Given the description of an element on the screen output the (x, y) to click on. 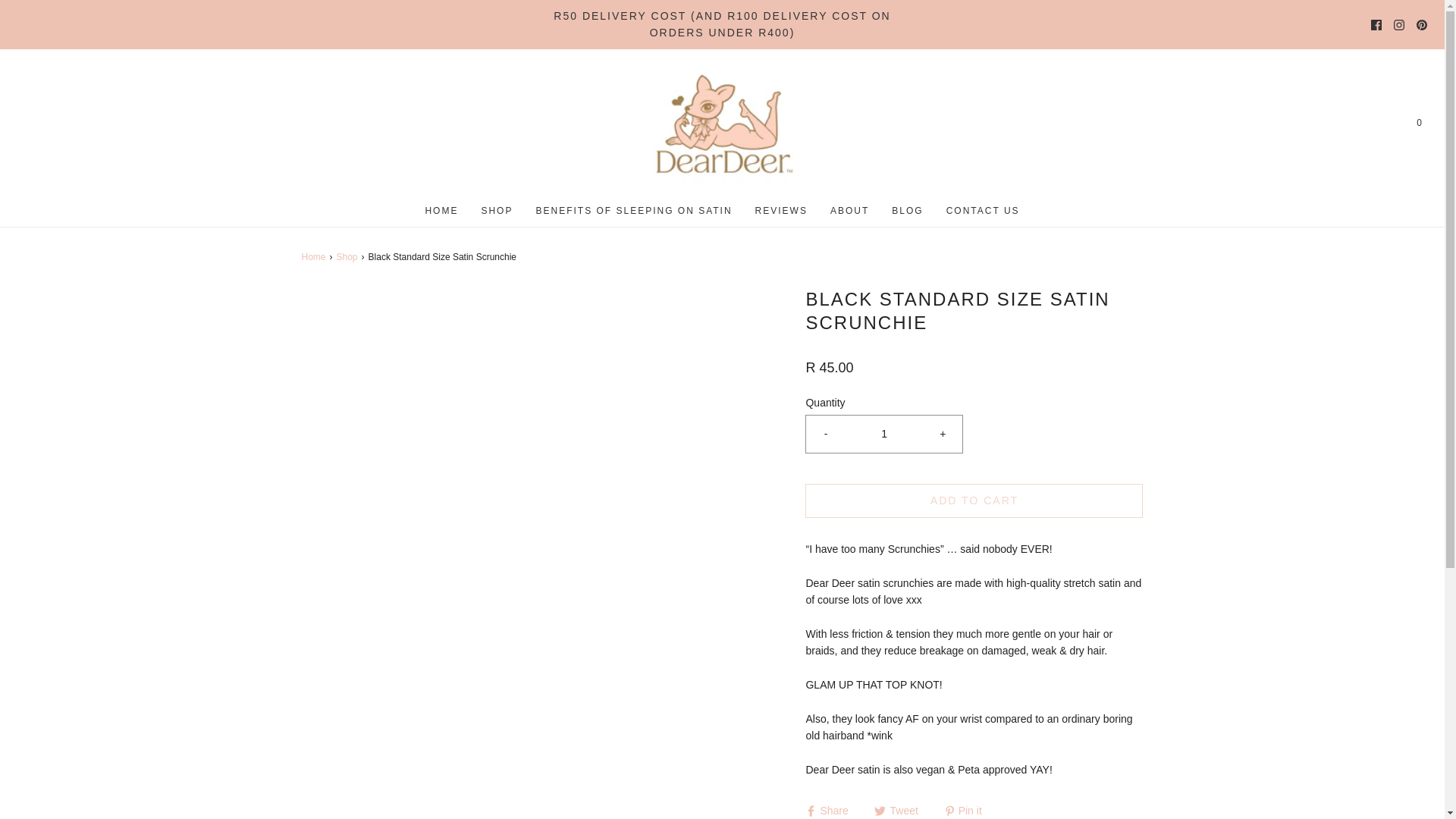
1 (884, 433)
INSTAGRAM ICON (1399, 24)
PINTEREST ICON (1421, 24)
Back to the frontpage (315, 257)
PINTEREST ICON (1421, 24)
INSTAGRAM ICON (1399, 24)
FACEBOOK ICON (1376, 24)
FACEBOOK ICON (1376, 24)
